Given the description of an element on the screen output the (x, y) to click on. 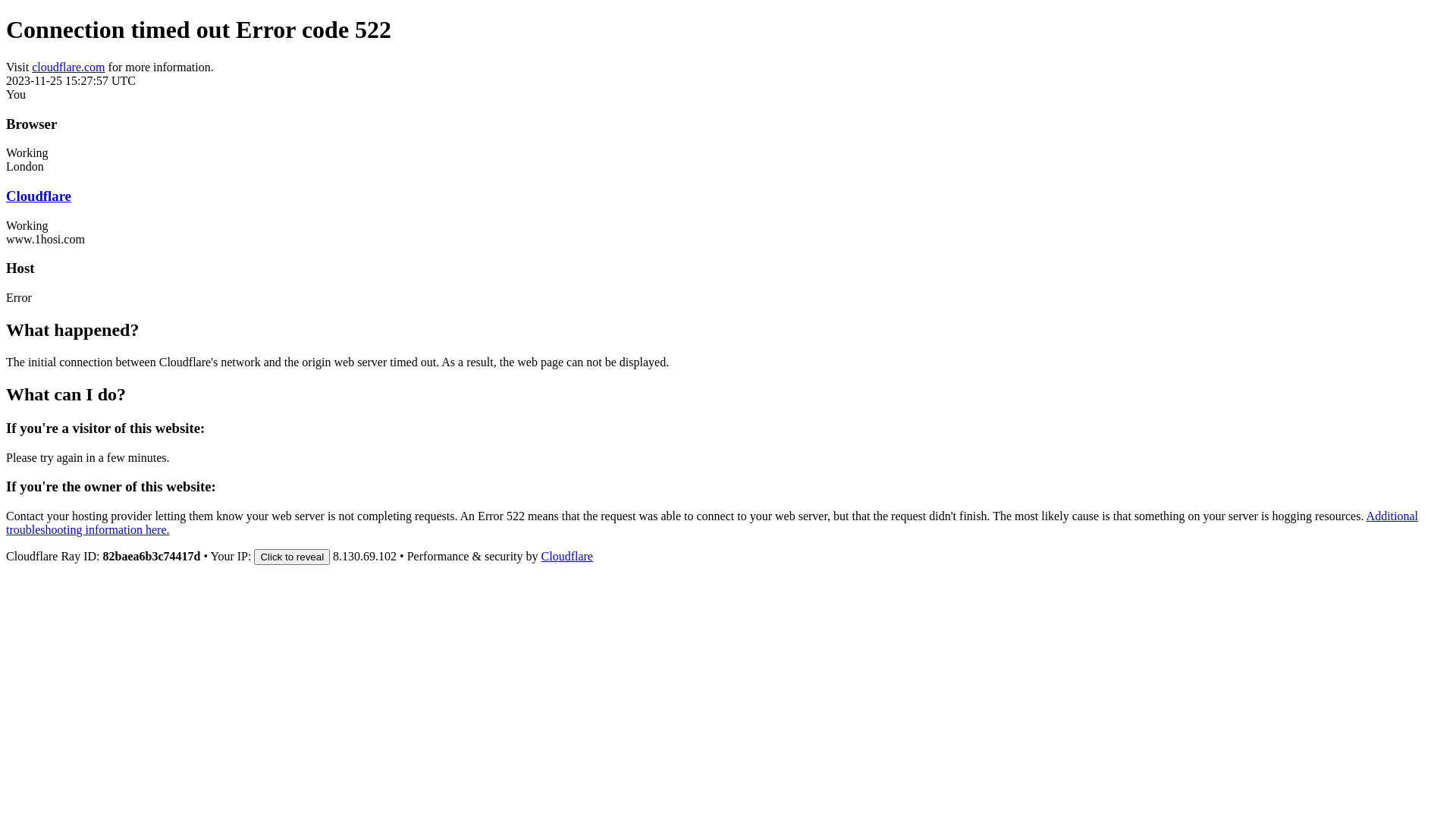
Additional troubleshooting information here. Element type: text (712, 522)
cloudflare.com Element type: text (67, 66)
Cloudflare Element type: text (567, 555)
Click to reveal Element type: text (291, 556)
Cloudflare Element type: text (38, 195)
